Given the description of an element on the screen output the (x, y) to click on. 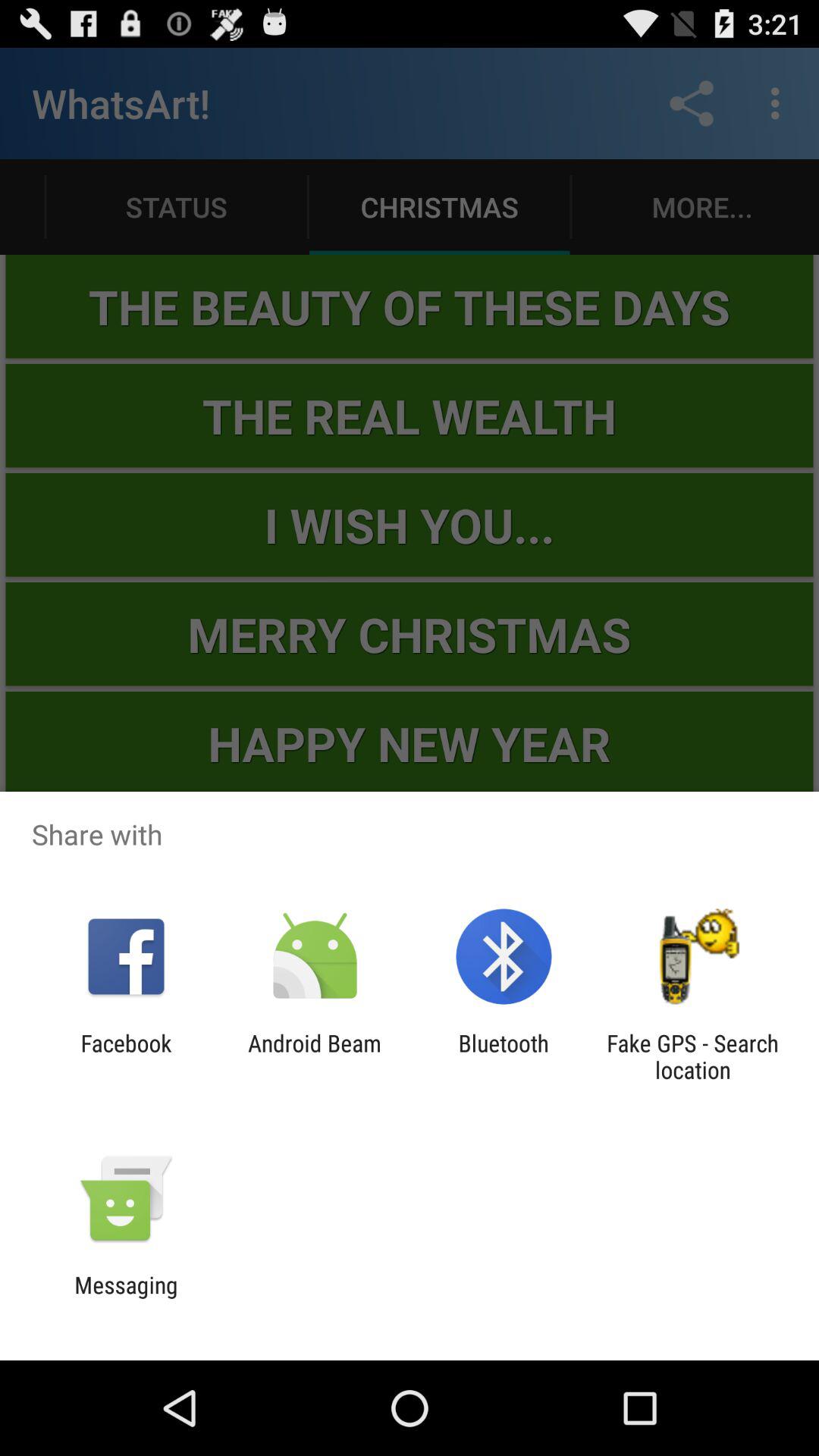
click app next to the android beam item (125, 1056)
